Given the description of an element on the screen output the (x, y) to click on. 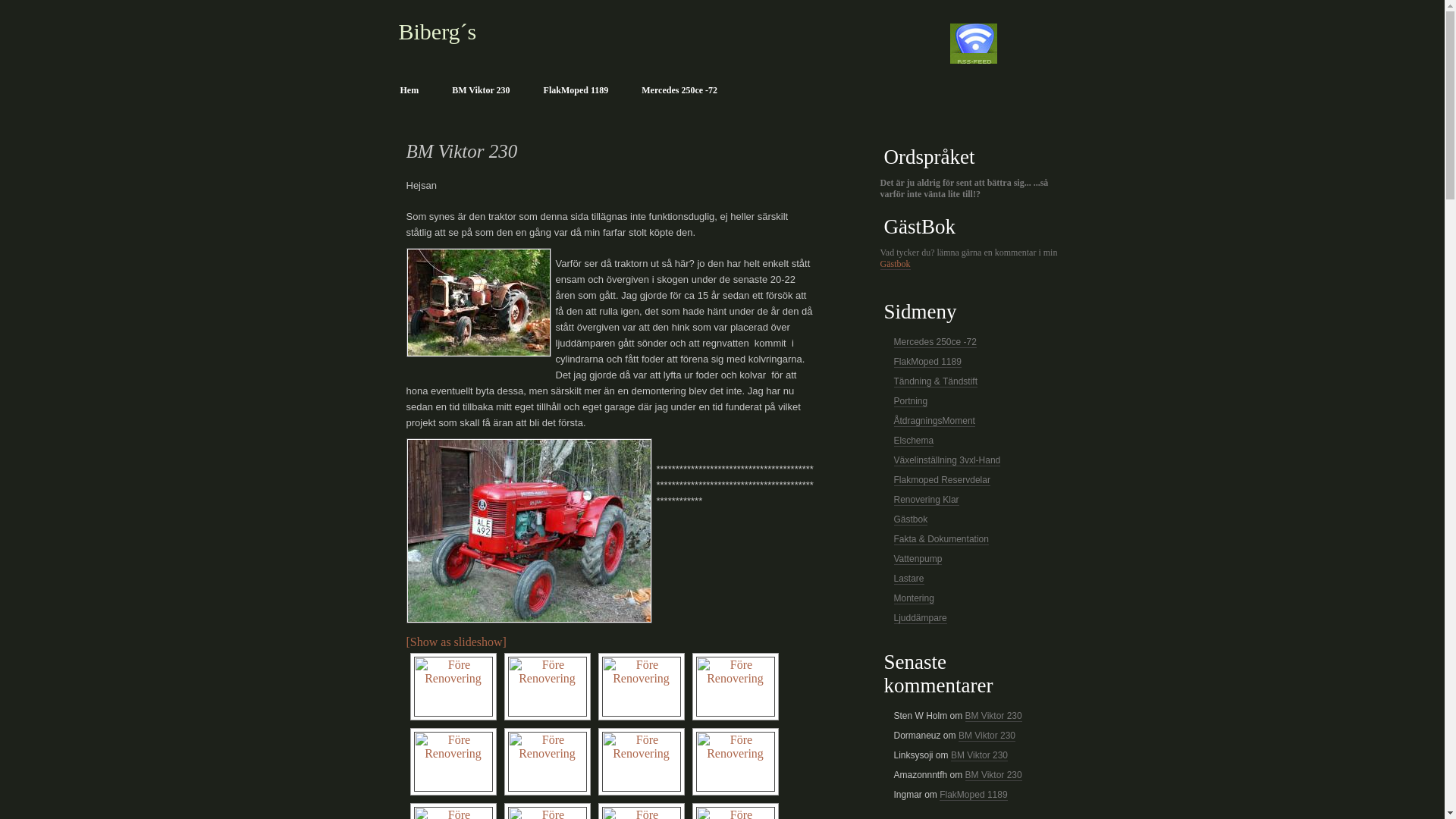
Lastare Element type: text (908, 578)
BM Viktor 230 Element type: text (986, 735)
FlakMoped 1189 Element type: text (973, 794)
BM Viktor 230 Element type: text (993, 715)
Vattenpump Element type: text (917, 558)
Mercedes 250ce -72 Element type: text (934, 342)
Hem Element type: text (409, 90)
Flakmoped Reservdelar Element type: text (941, 480)
BM Viktor 230 Element type: text (480, 90)
Portning Element type: text (910, 401)
FlakMoped 1189 Element type: text (576, 90)
FlakMoped 1189 Element type: text (926, 361)
BM Viktor 230 Element type: text (993, 775)
Fakta & Dokumentation Element type: text (940, 539)
Montering Element type: text (913, 598)
BM Viktor 230 Element type: text (978, 755)
Mercedes 250ce -72 Element type: text (679, 90)
Efter Renovering Element type: hover (529, 530)
Elschema Element type: text (913, 440)
Renovering Klar Element type: text (925, 499)
[Show as slideshow] Element type: text (456, 641)
